Given the description of an element on the screen output the (x, y) to click on. 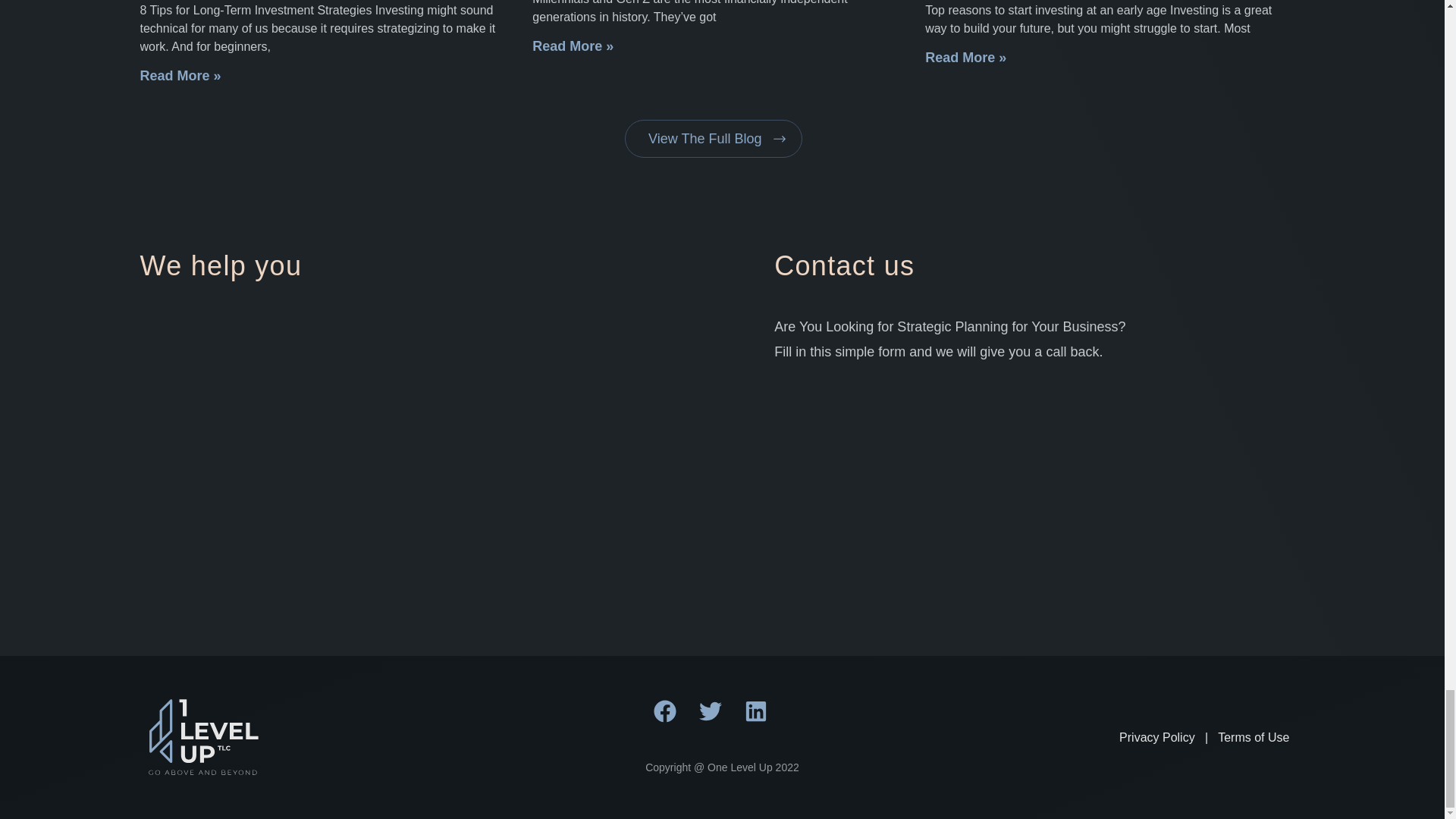
Terms of Use (1252, 737)
Privacy Policy (1157, 737)
Linkedin (767, 722)
Facebook (675, 722)
Twitter (721, 722)
